Given the description of an element on the screen output the (x, y) to click on. 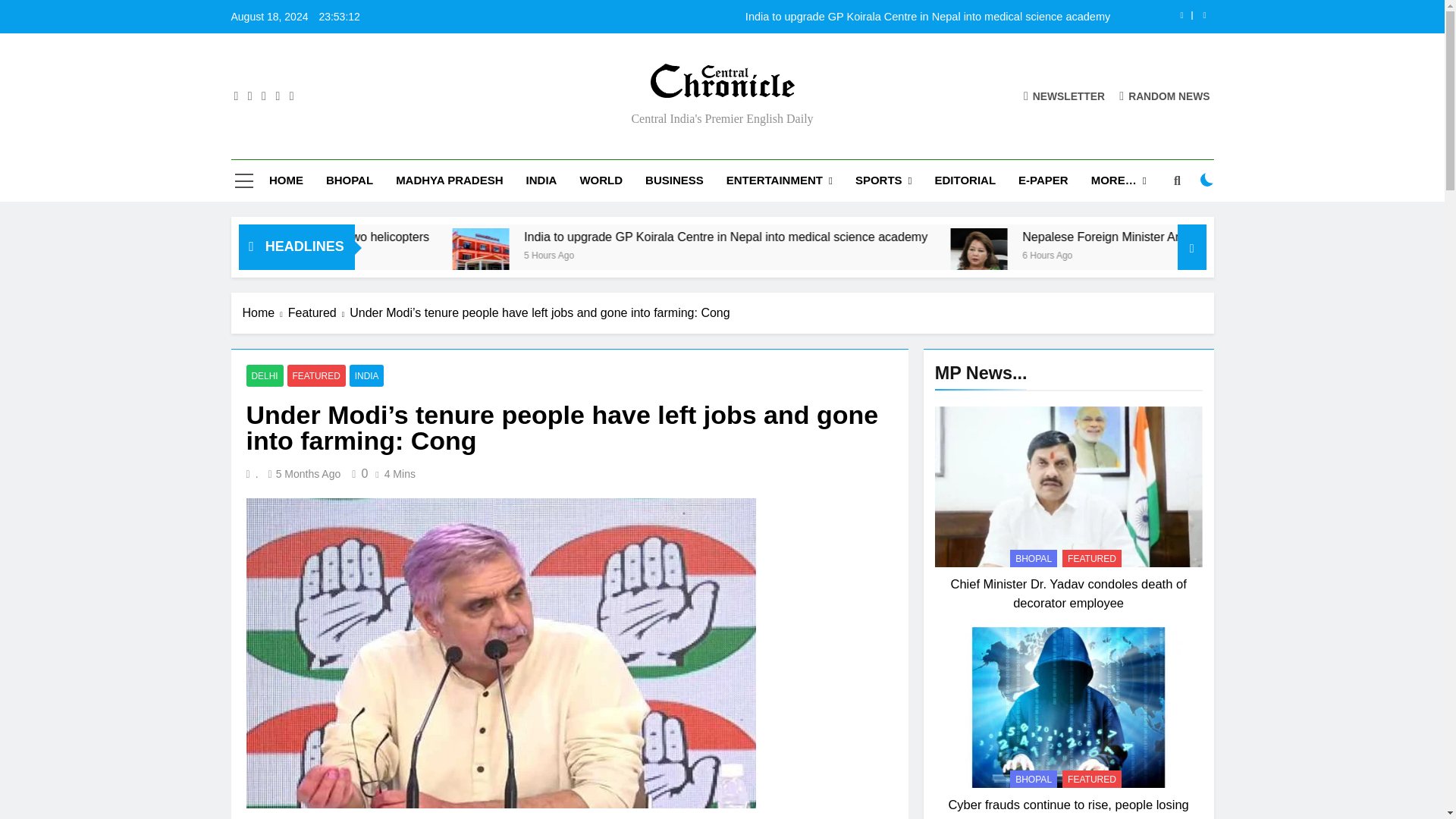
HOME (285, 179)
ENTERTAINMENT (779, 180)
MADHYA PRADESH (448, 179)
WORLD (600, 179)
BUSINESS (673, 179)
NEWSLETTER (1064, 95)
Central India'S Premier English Daily (560, 109)
